Given the description of an element on the screen output the (x, y) to click on. 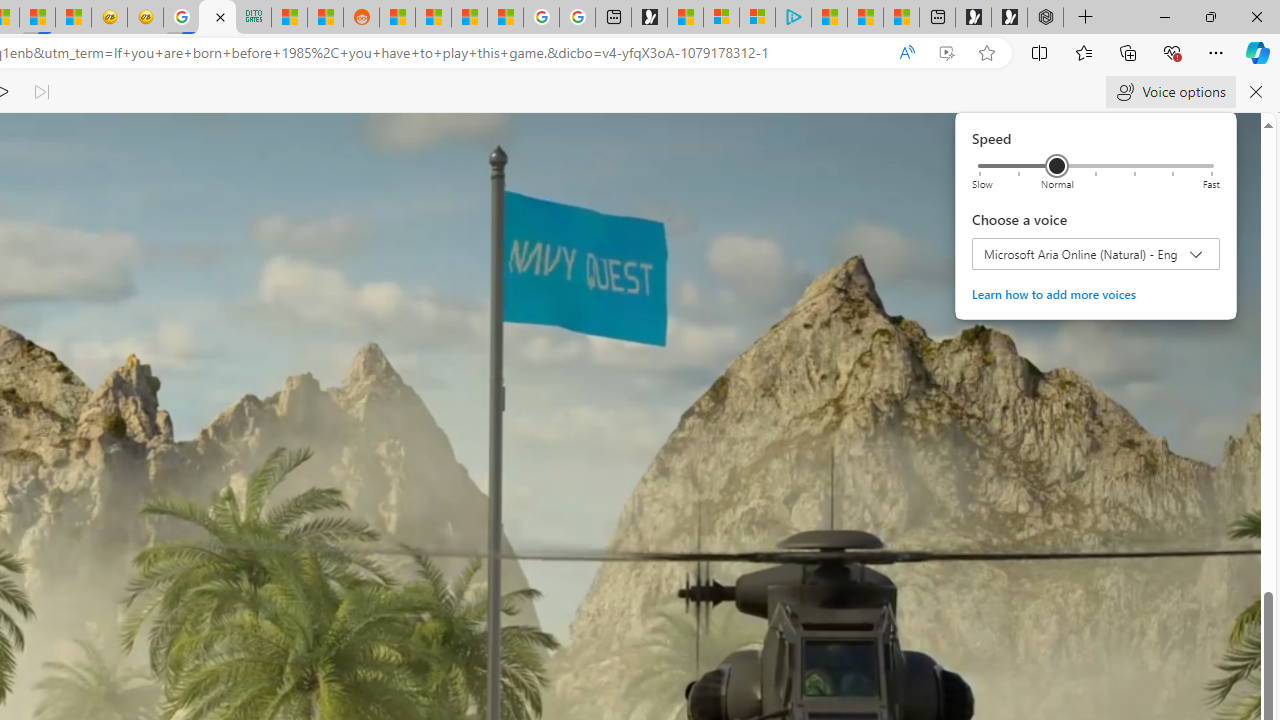
R******* | Trusted Community Engagement and Contributions (397, 17)
Microsoft Start Gaming (649, 17)
Read next paragraph (40, 92)
Play Free Online Games | Games from Microsoft Start (1009, 17)
These 3 Stocks Pay You More Than 5% to Own Them (901, 17)
MSN (37, 17)
MSNBC - MSN (289, 17)
Close read aloud (906, 53)
DITOGAMES AG Imprint (253, 17)
